Given the description of an element on the screen output the (x, y) to click on. 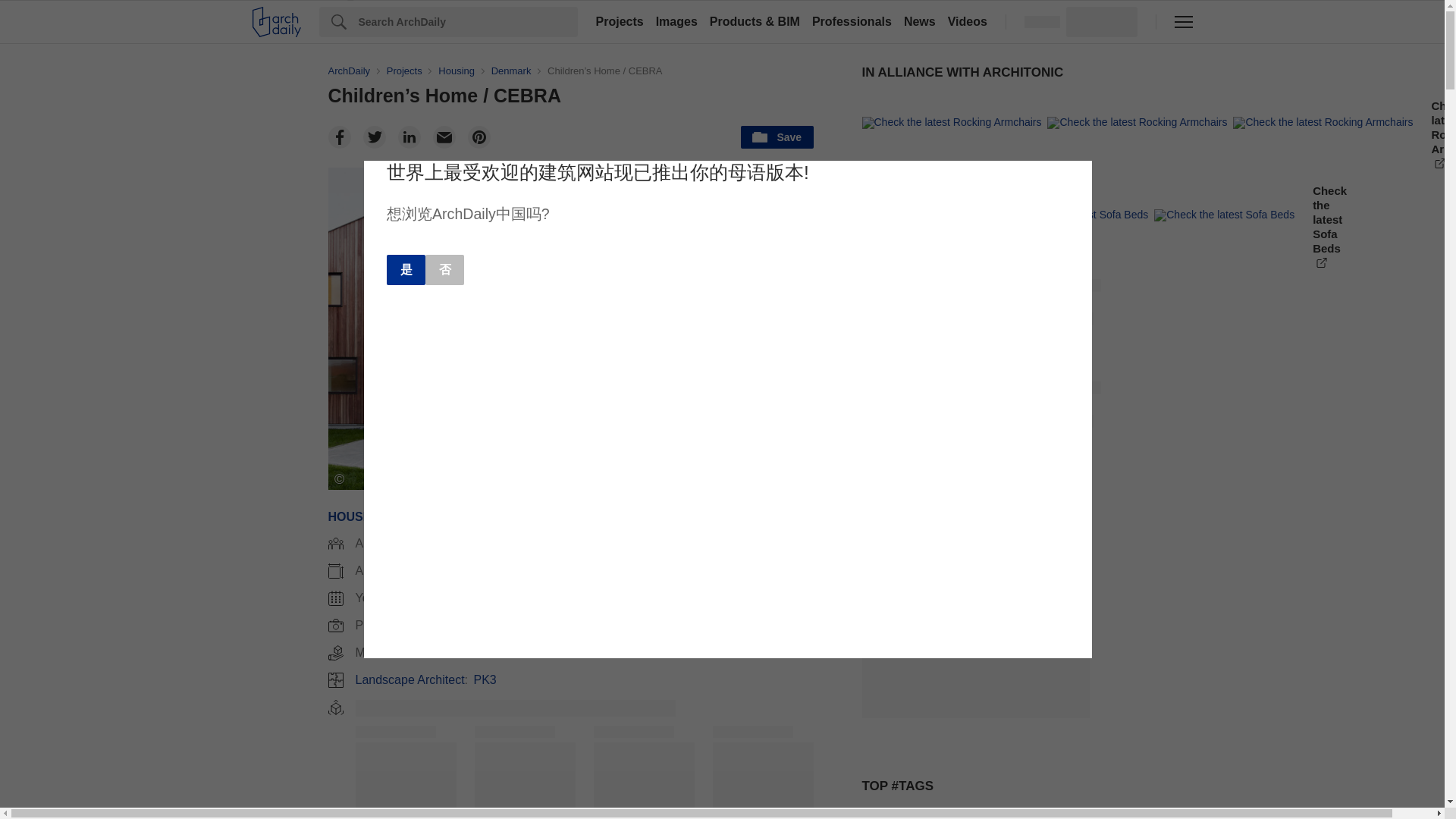
Images (676, 21)
Professionals (852, 21)
Projects (619, 21)
Videos (967, 21)
News (920, 21)
